Given the description of an element on the screen output the (x, y) to click on. 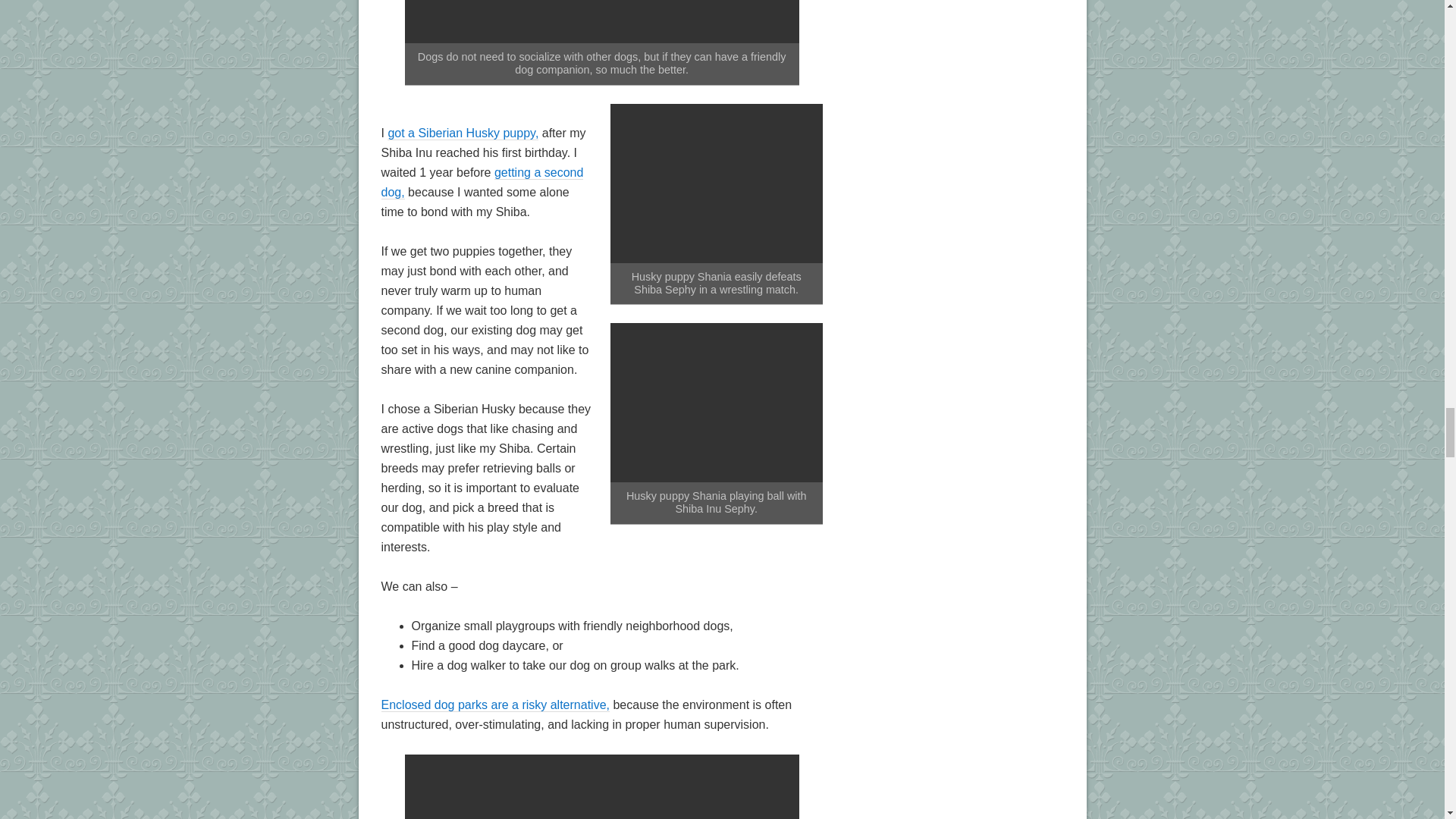
Enclosed dog parks are a risky alternative, (494, 704)
getting a second dog, (481, 182)
got a Siberian Husky puppy, (462, 133)
